Given the description of an element on the screen output the (x, y) to click on. 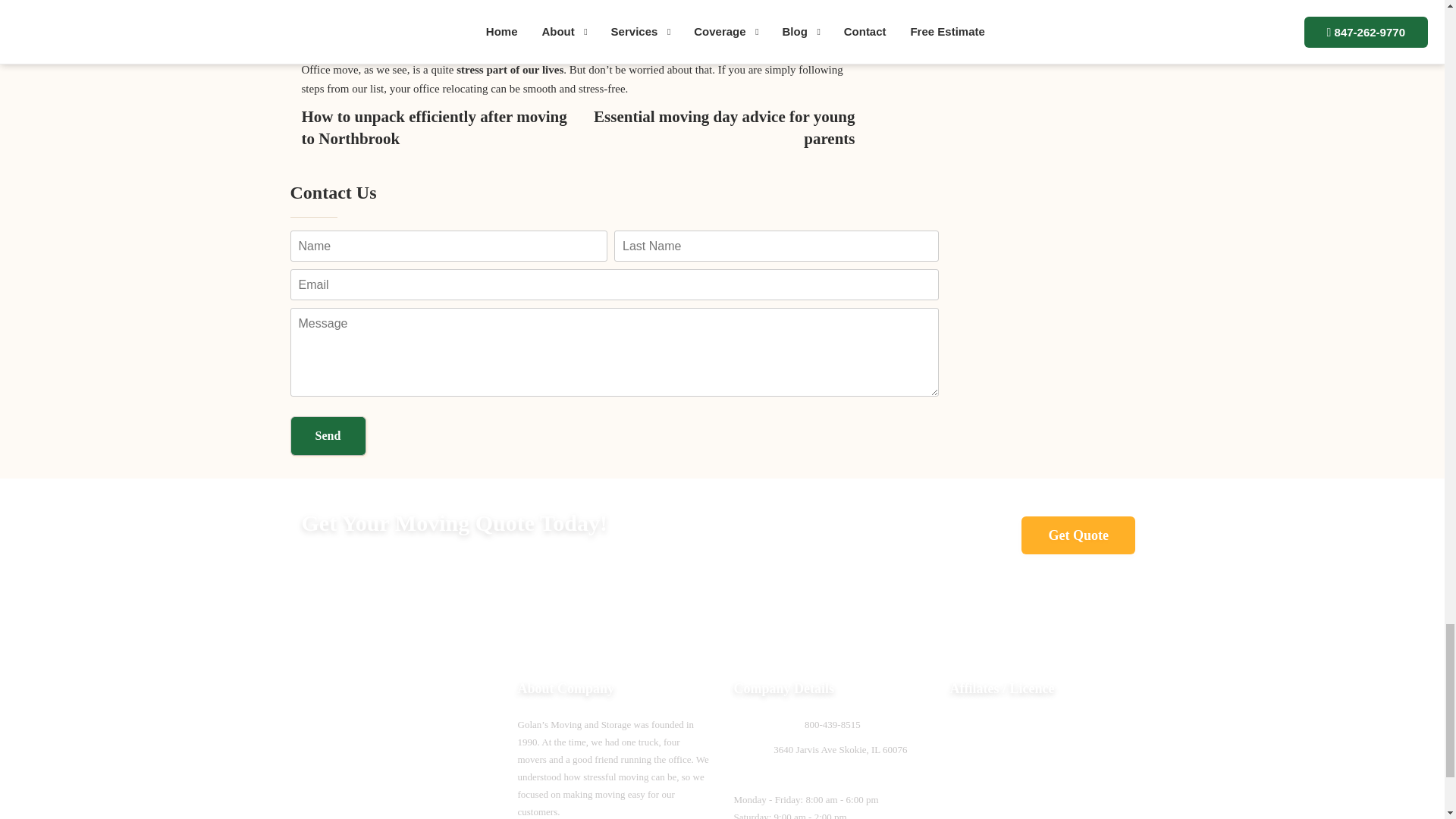
Send (327, 435)
